Given the description of an element on the screen output the (x, y) to click on. 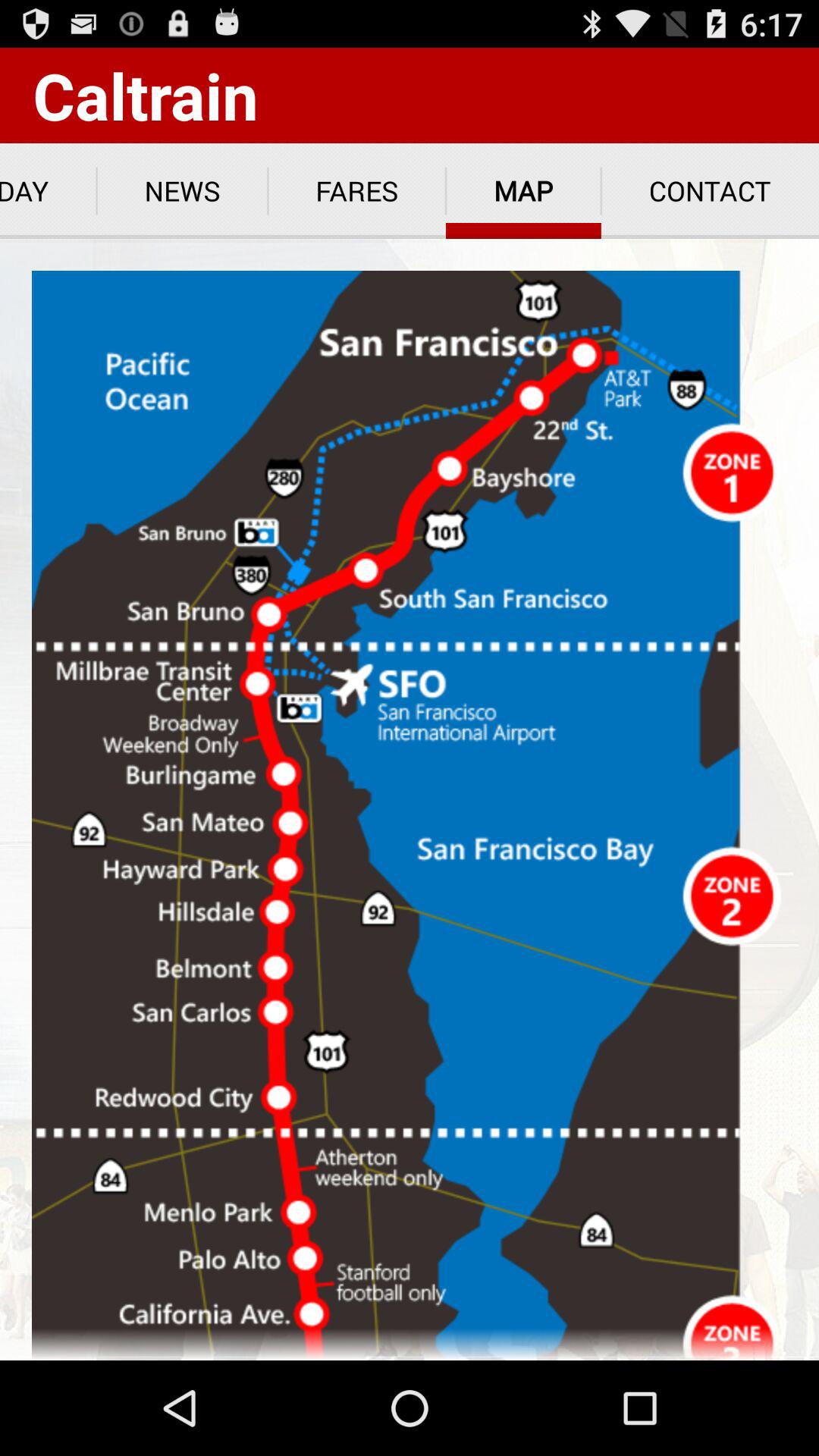
turn on item to the left of map icon (356, 190)
